Given the description of an element on the screen output the (x, y) to click on. 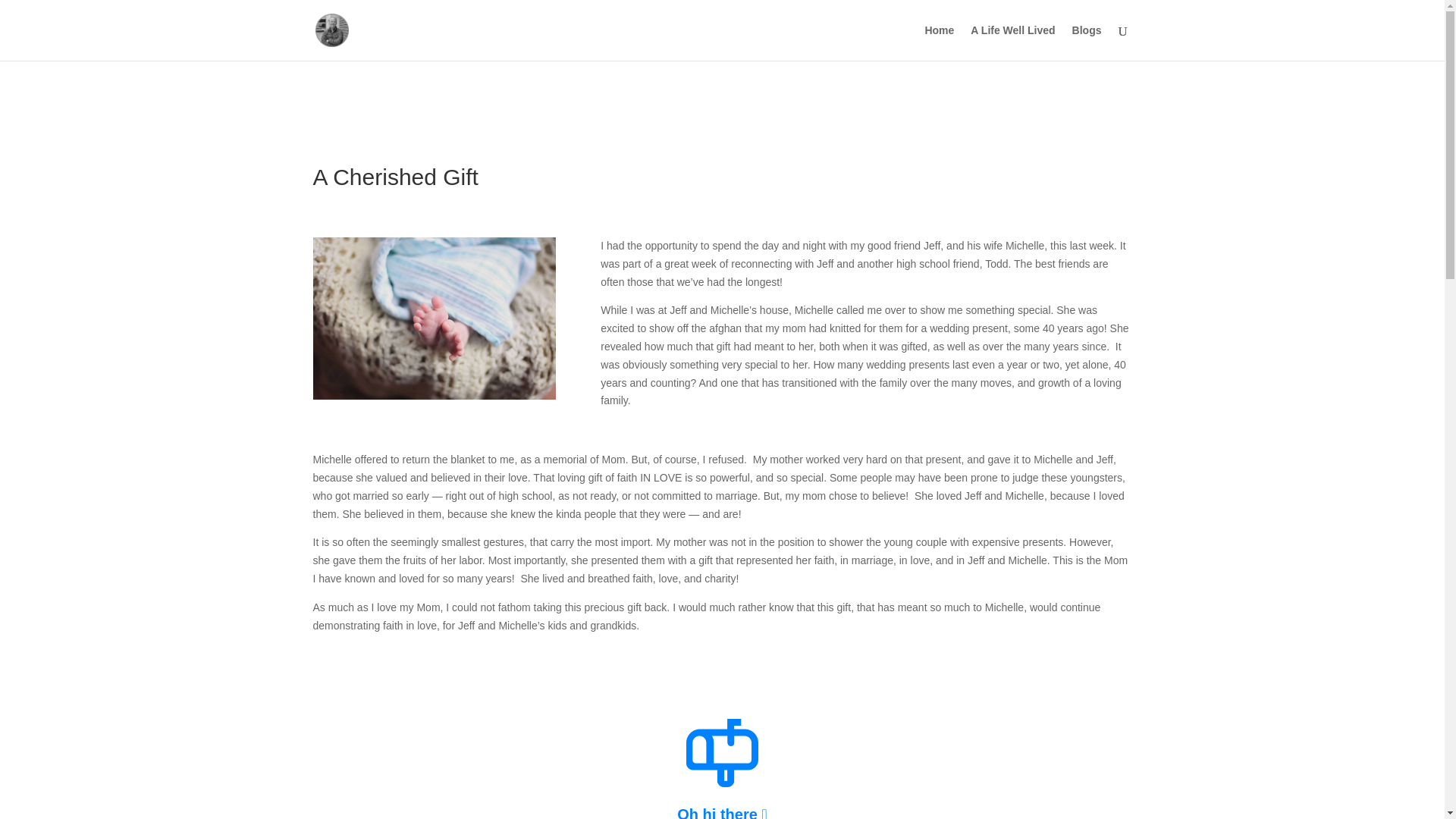
pexels-leah-kelley-185934 (433, 318)
A Life Well Lived (1012, 42)
